Given the description of an element on the screen output the (x, y) to click on. 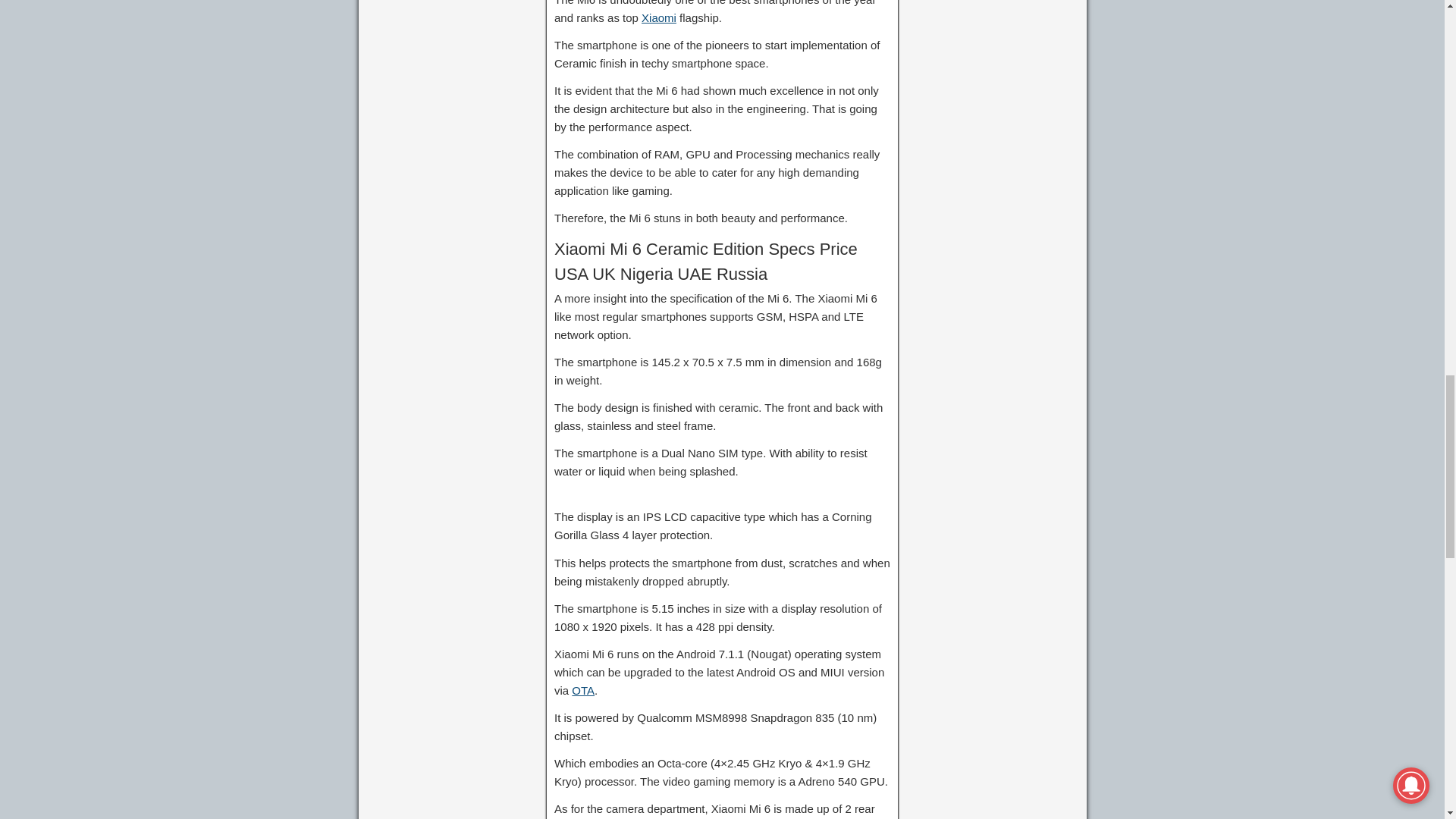
OTA (583, 689)
Xiaomi (659, 17)
